Given the description of an element on the screen output the (x, y) to click on. 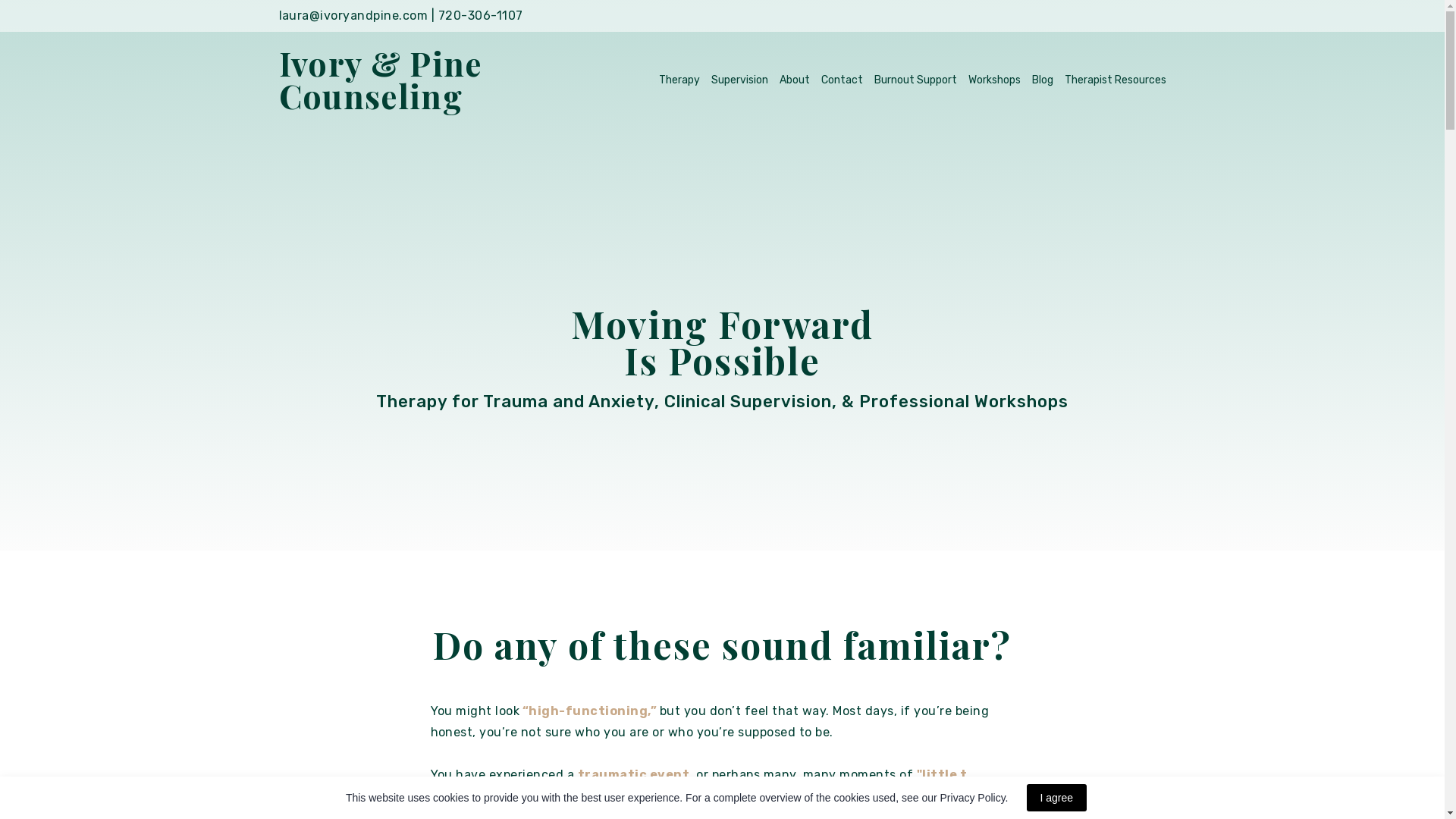
Contact (842, 78)
Supervision (739, 78)
Burnout Support (915, 78)
Blog (1042, 78)
Workshops (994, 78)
About (793, 78)
Therapist Resources (1115, 78)
Therapy (679, 78)
